Given the description of an element on the screen output the (x, y) to click on. 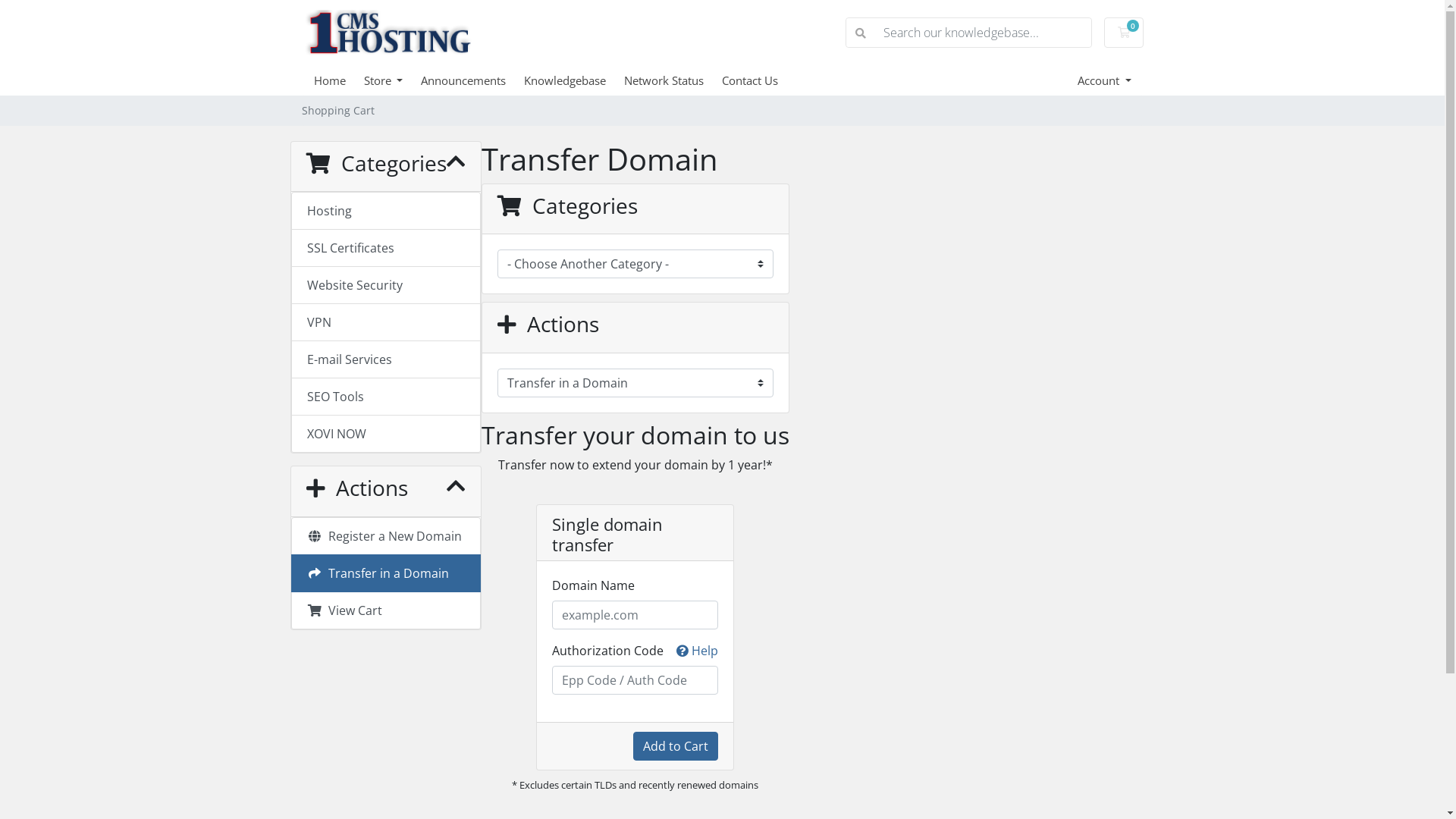
VPN Element type: text (385, 322)
  View Cart Element type: text (385, 610)
SSL Certificates Element type: text (385, 247)
Help Element type: text (697, 650)
Please enter your domain Element type: hover (635, 614)
Network Status Element type: text (672, 79)
Knowledgebase Element type: text (574, 79)
  Register a New Domain Element type: text (385, 536)
Account Element type: text (1104, 79)
Store Element type: text (392, 79)
Announcements Element type: text (472, 79)
SEO Tools Element type: text (385, 396)
Add to Cart Element type: text (675, 745)
Required Element type: hover (635, 679)
Contact Us Element type: text (758, 79)
0
Shopping Cart Element type: text (1123, 32)
Hosting Element type: text (385, 210)
Website Security Element type: text (385, 285)
E-mail Services Element type: text (385, 359)
Home Element type: text (338, 79)
XOVI NOW Element type: text (385, 433)
  Transfer in a Domain Element type: text (385, 573)
